Given the description of an element on the screen output the (x, y) to click on. 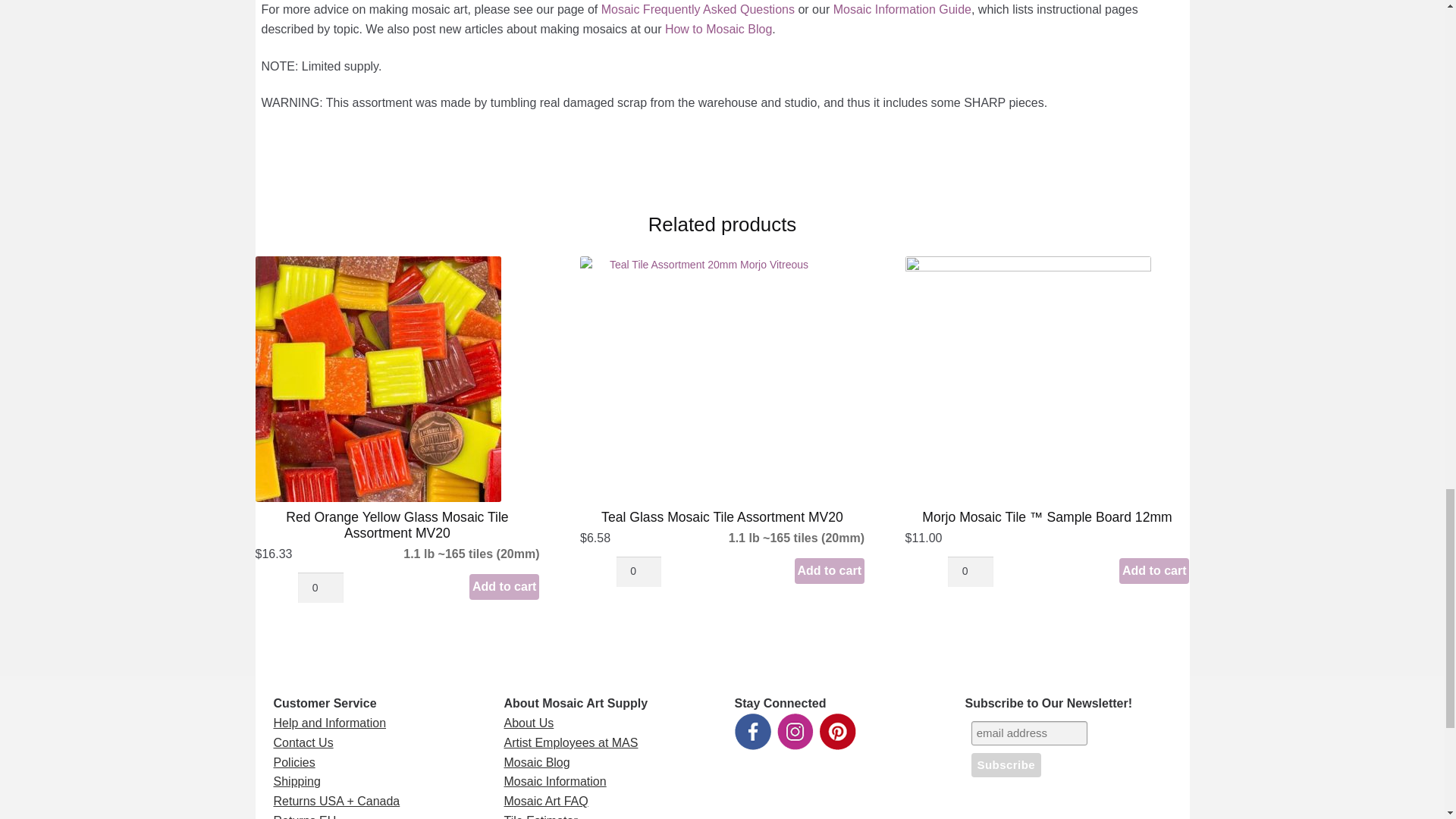
Mosaic Art Supply on Pinterest (837, 731)
0 (638, 571)
0 (320, 587)
Mosaic Art Supply on Facebook (751, 731)
Subscribe (1006, 764)
0 (969, 571)
Mosaic Art Supply on Instagram (794, 731)
